Given the description of an element on the screen output the (x, y) to click on. 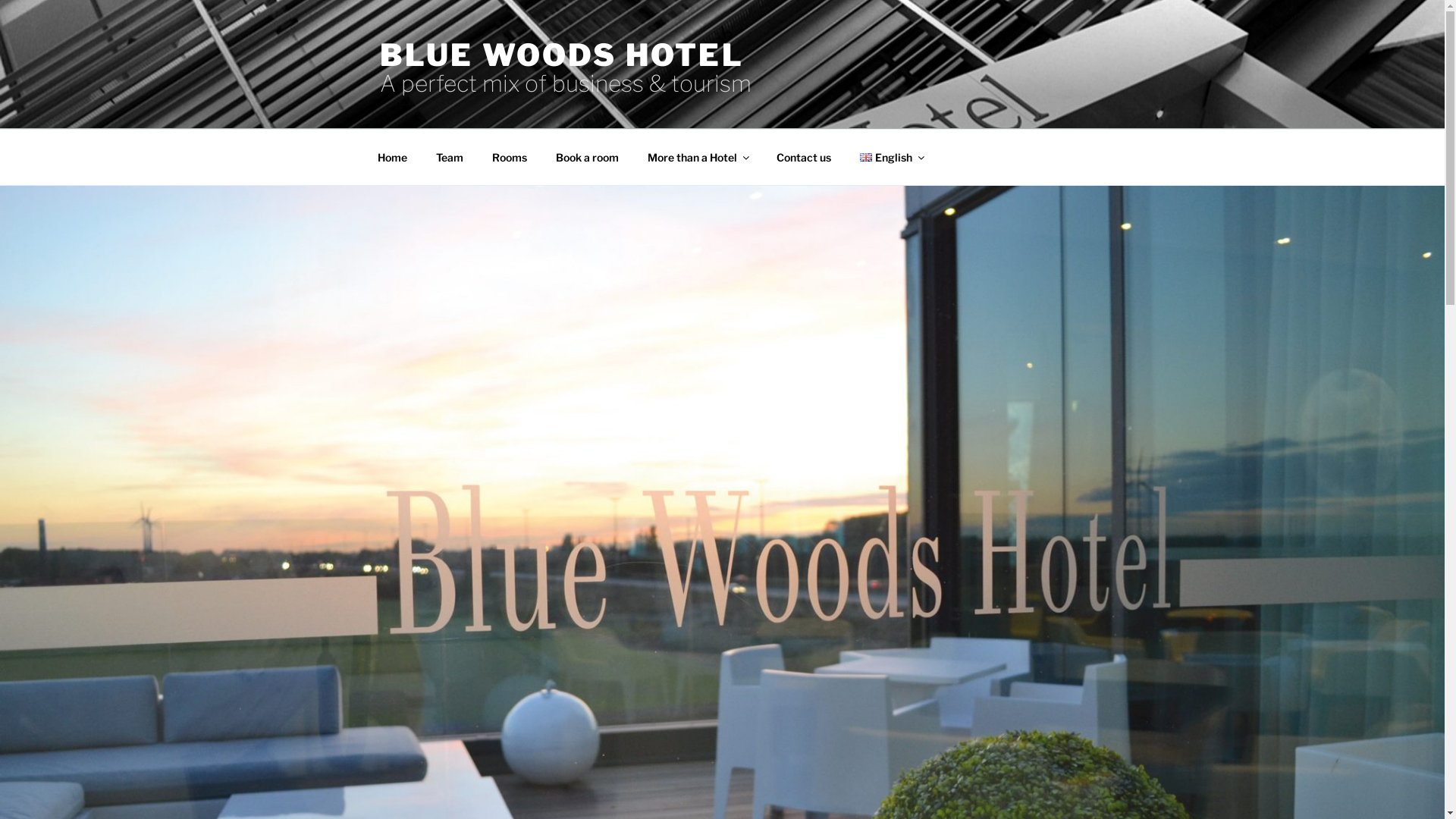
Book a room Element type: text (587, 157)
English Element type: hover (865, 157)
Team Element type: text (449, 157)
English Element type: text (890, 157)
Contact us Element type: text (803, 157)
Rooms Element type: text (509, 157)
Home Element type: text (392, 157)
More than a Hotel Element type: text (696, 157)
Skip to content Element type: text (0, 0)
BLUE WOODS HOTEL Element type: text (561, 54)
